Given the description of an element on the screen output the (x, y) to click on. 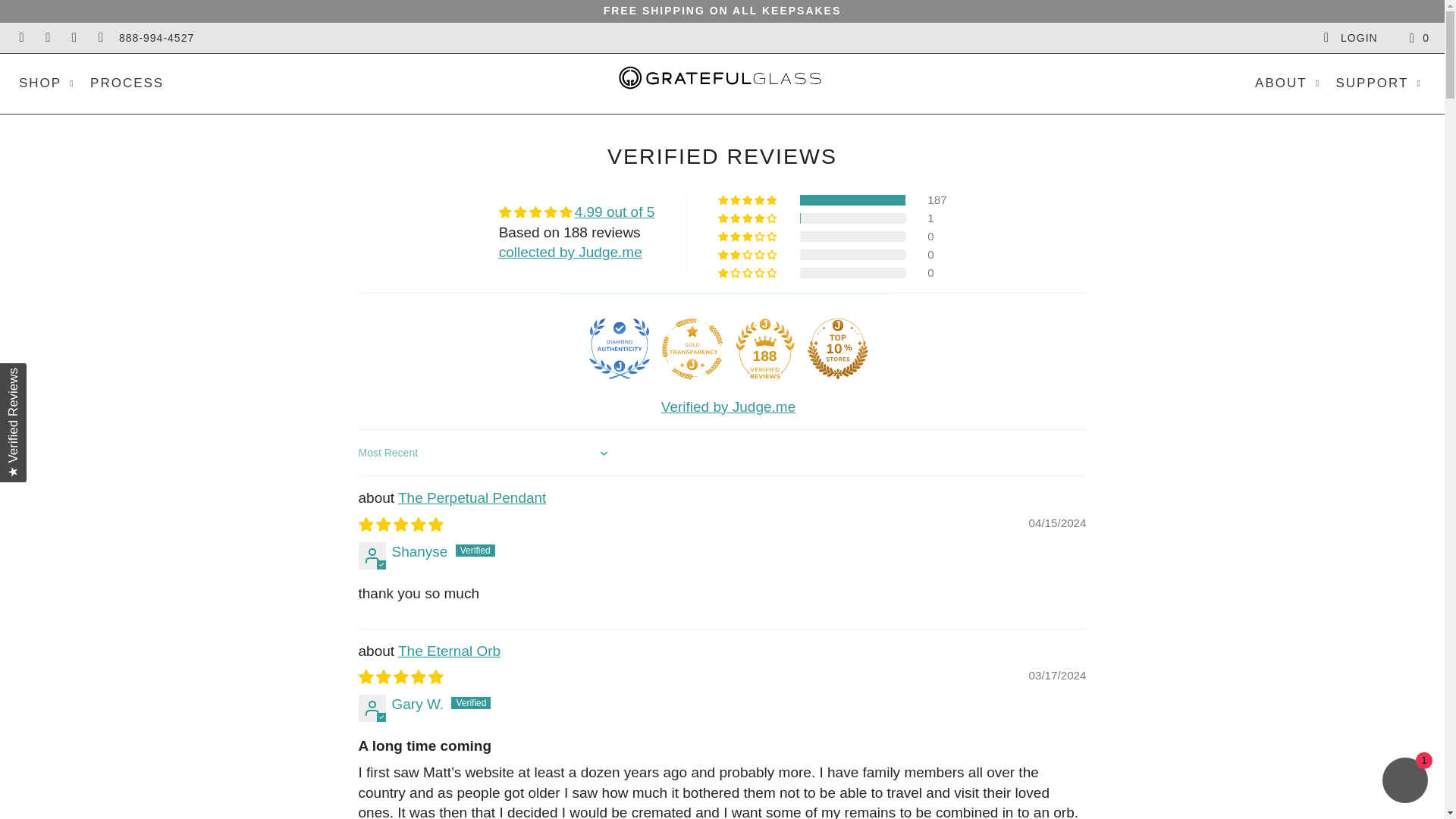
Grateful Glass on Twitter (21, 37)
My Account  (1350, 37)
Process (722, 10)
Email Grateful Glass (100, 37)
Grateful Glass on Facebook (47, 37)
Grateful Glass on Instagram (73, 37)
Grateful Glass (721, 81)
